Given the description of an element on the screen output the (x, y) to click on. 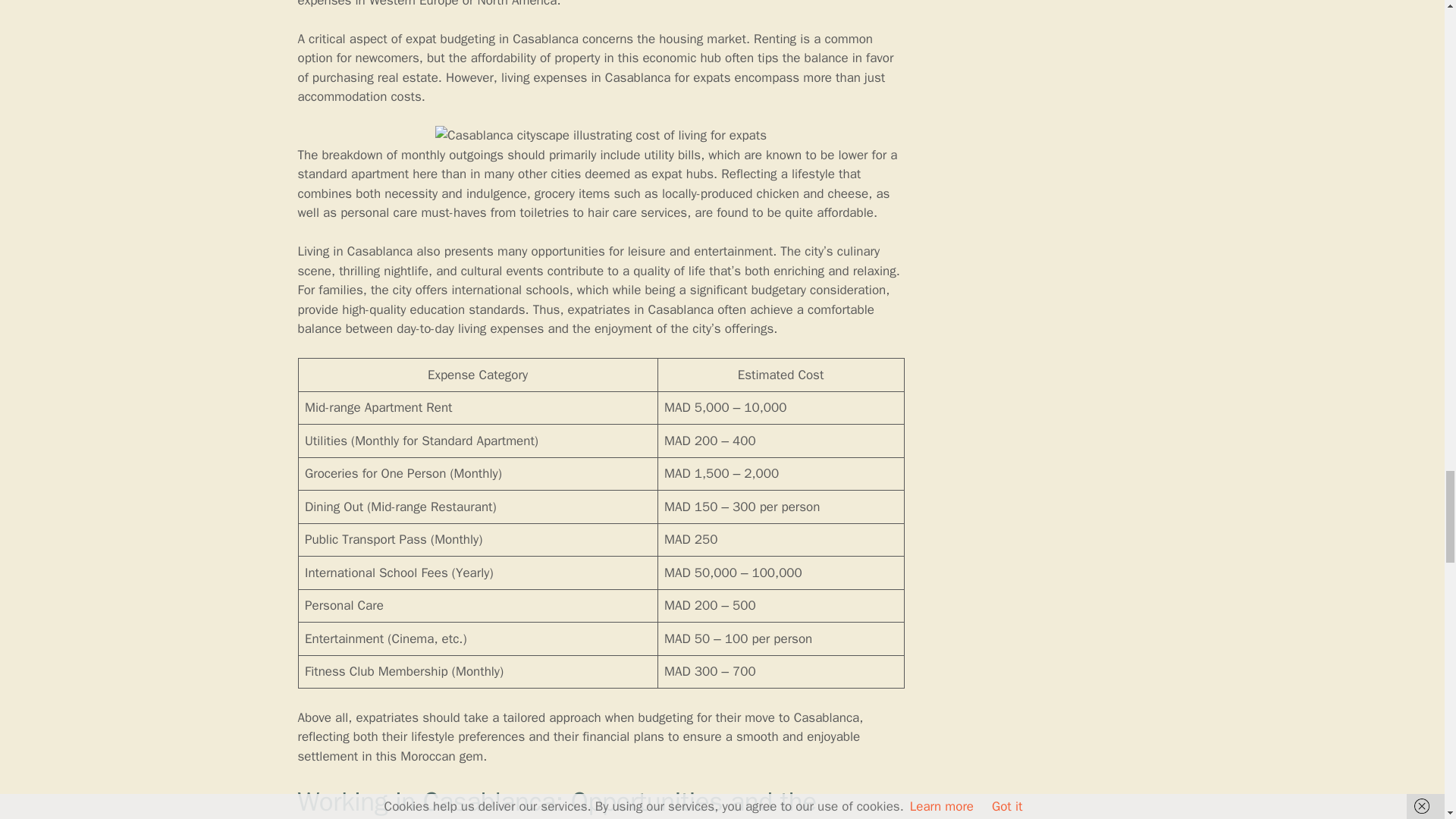
Casablanca cityscape illustrating cost of living for expats (601, 135)
